Given the description of an element on the screen output the (x, y) to click on. 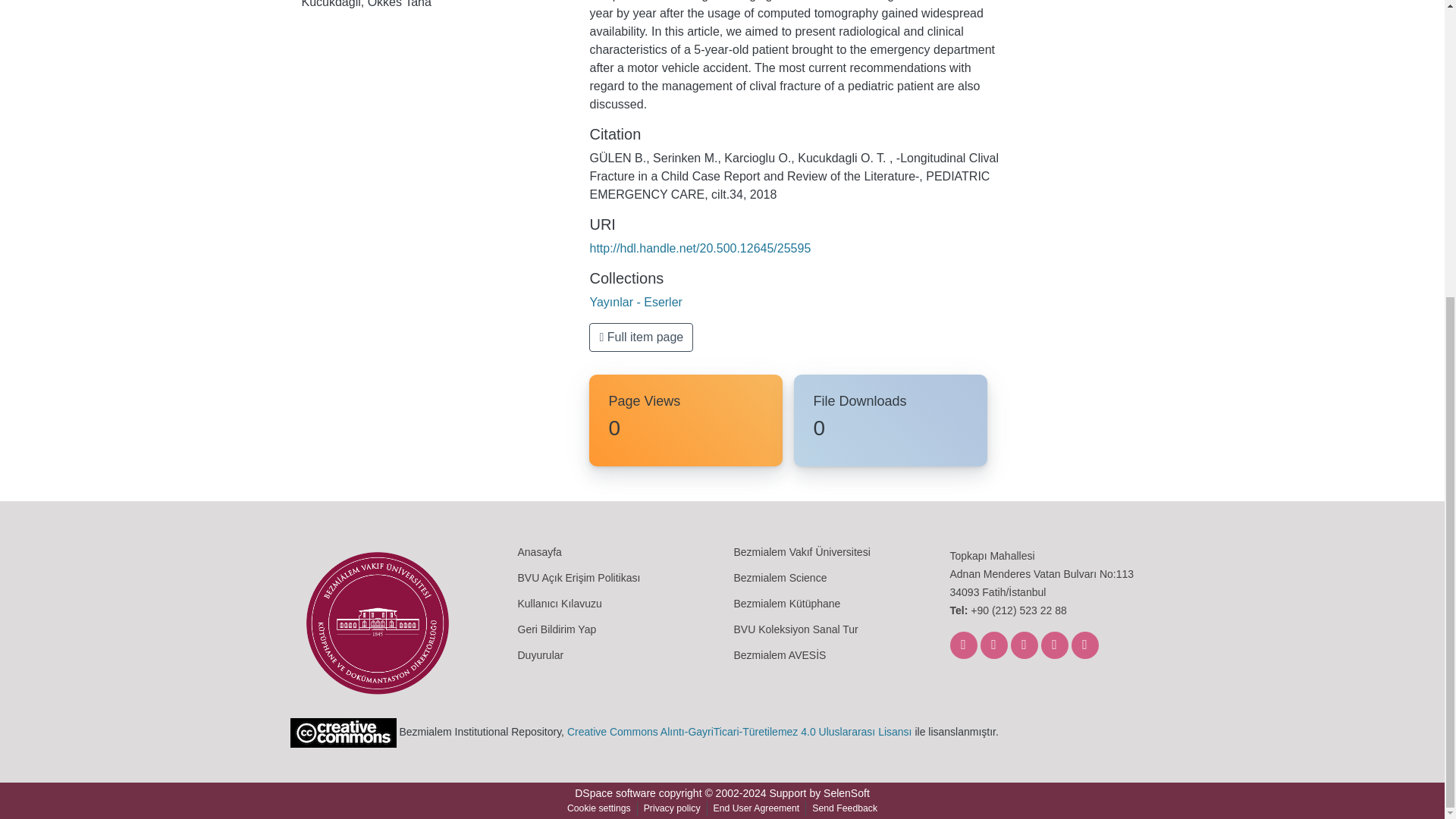
Bezmialem Science (780, 577)
BVU Koleksiyon Sanal Tur (796, 629)
SelenSoft (846, 793)
DSpace software (615, 793)
Anasayfa (538, 552)
Geri Bildirim Yap (555, 629)
Full item page (641, 337)
Duyurular (539, 655)
